Given the description of an element on the screen output the (x, y) to click on. 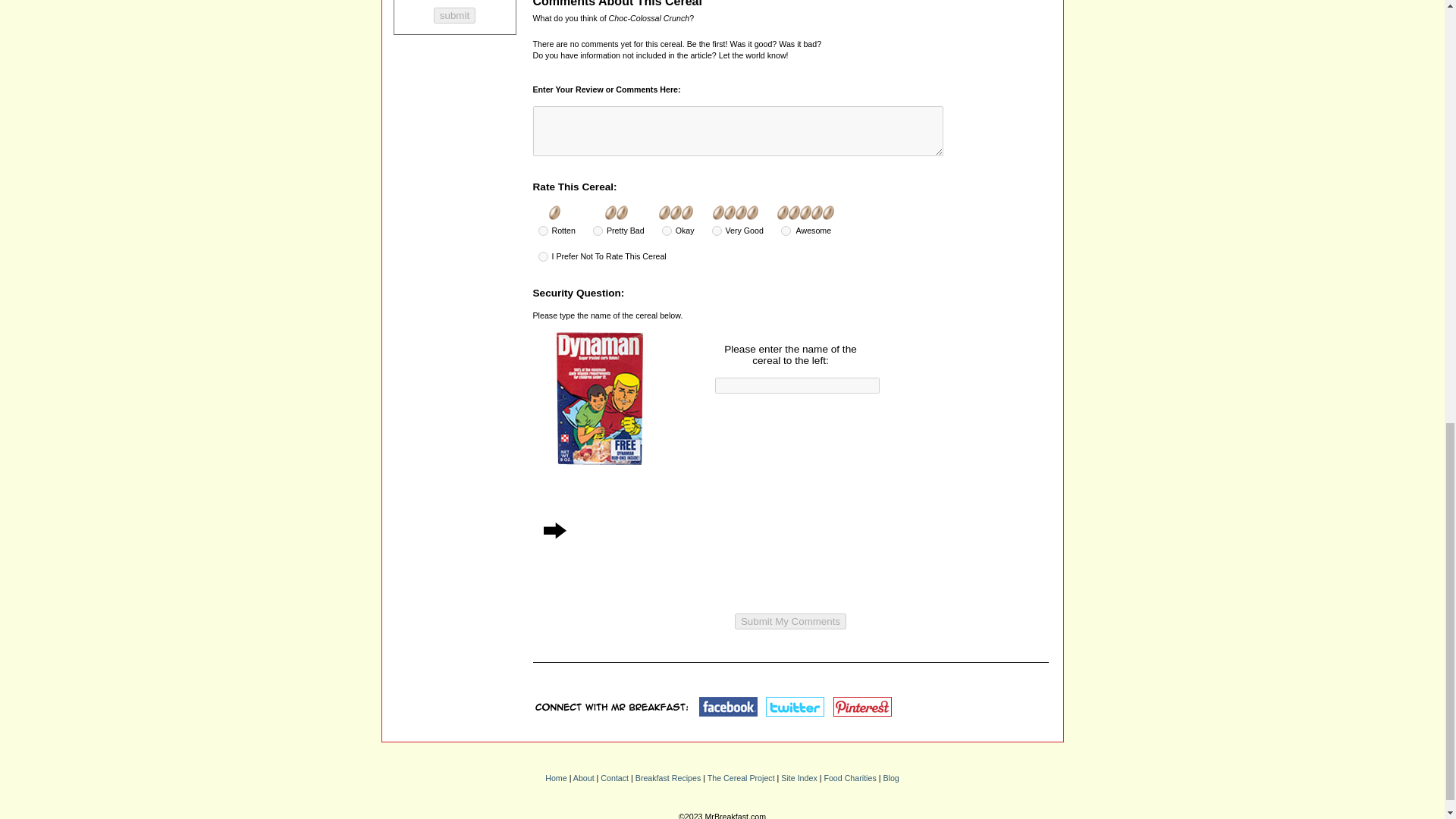
1 (543, 230)
The Cereal Project: Breakfast Cereal Encyclopedia (740, 777)
3 (666, 230)
MrBreakfast.com Home Page (555, 777)
4 (716, 230)
5 (785, 230)
Recommended Food Charities (850, 777)
About MrBreakfast.com (583, 777)
111 (543, 256)
Contact MrBreakfast.com (613, 777)
Breakfast Recipes (667, 777)
Submit My Comments (790, 621)
2 (597, 230)
MrBreakfast.com Blog (890, 777)
submit (454, 15)
